Given the description of an element on the screen output the (x, y) to click on. 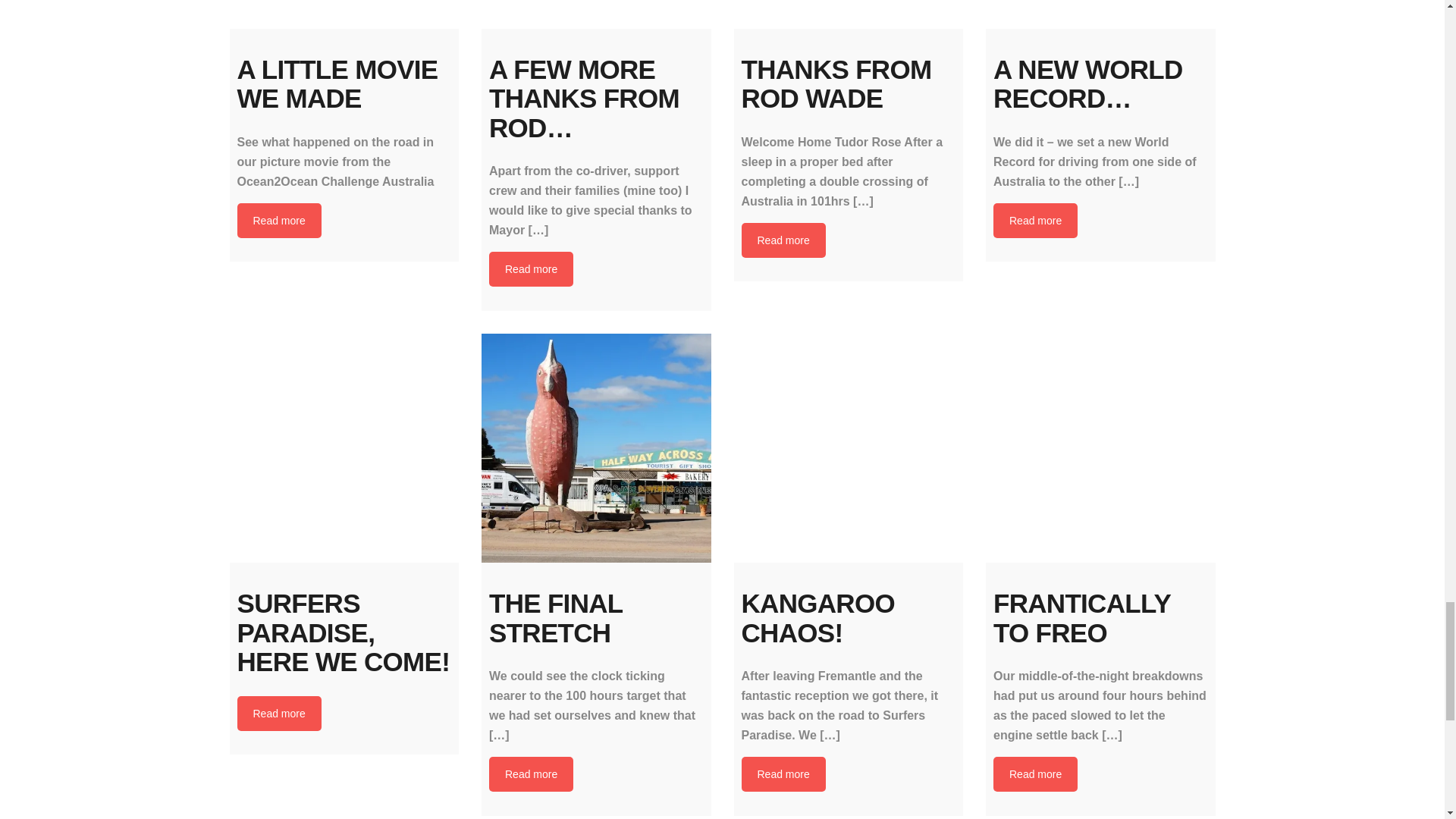
Kangaroo Chaos! (848, 448)
Read more (783, 239)
The final stretch (596, 448)
Read more (1034, 220)
Surfers Paradise, here we come! (343, 448)
Read more (531, 268)
Thanks from Rod Wade (848, 14)
Read more (277, 713)
Read more (531, 773)
A little movie we made (343, 14)
